Given the description of an element on the screen output the (x, y) to click on. 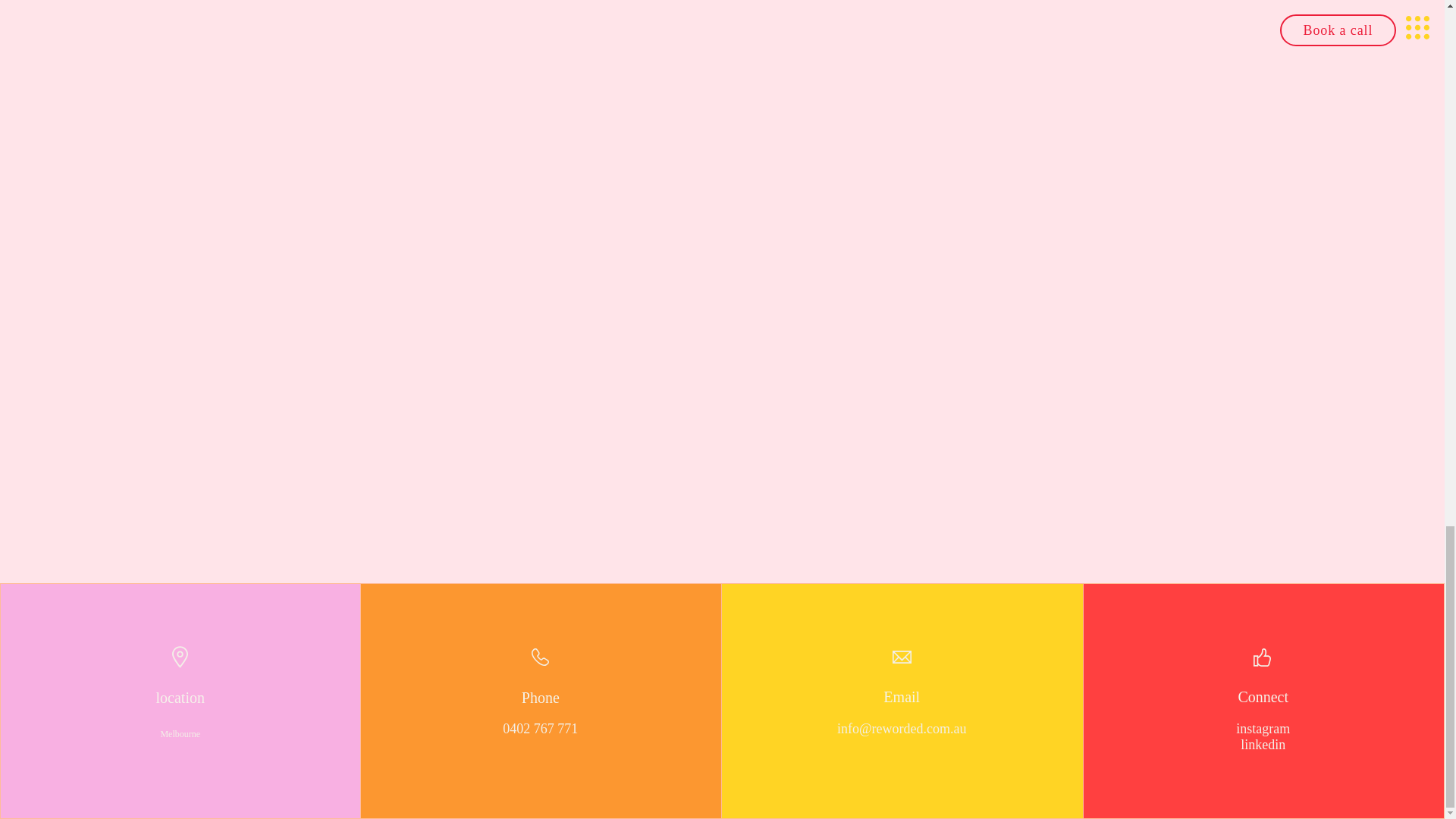
linkedin (1262, 744)
0402 767 771 (540, 730)
instagram (1263, 729)
